Given the description of an element on the screen output the (x, y) to click on. 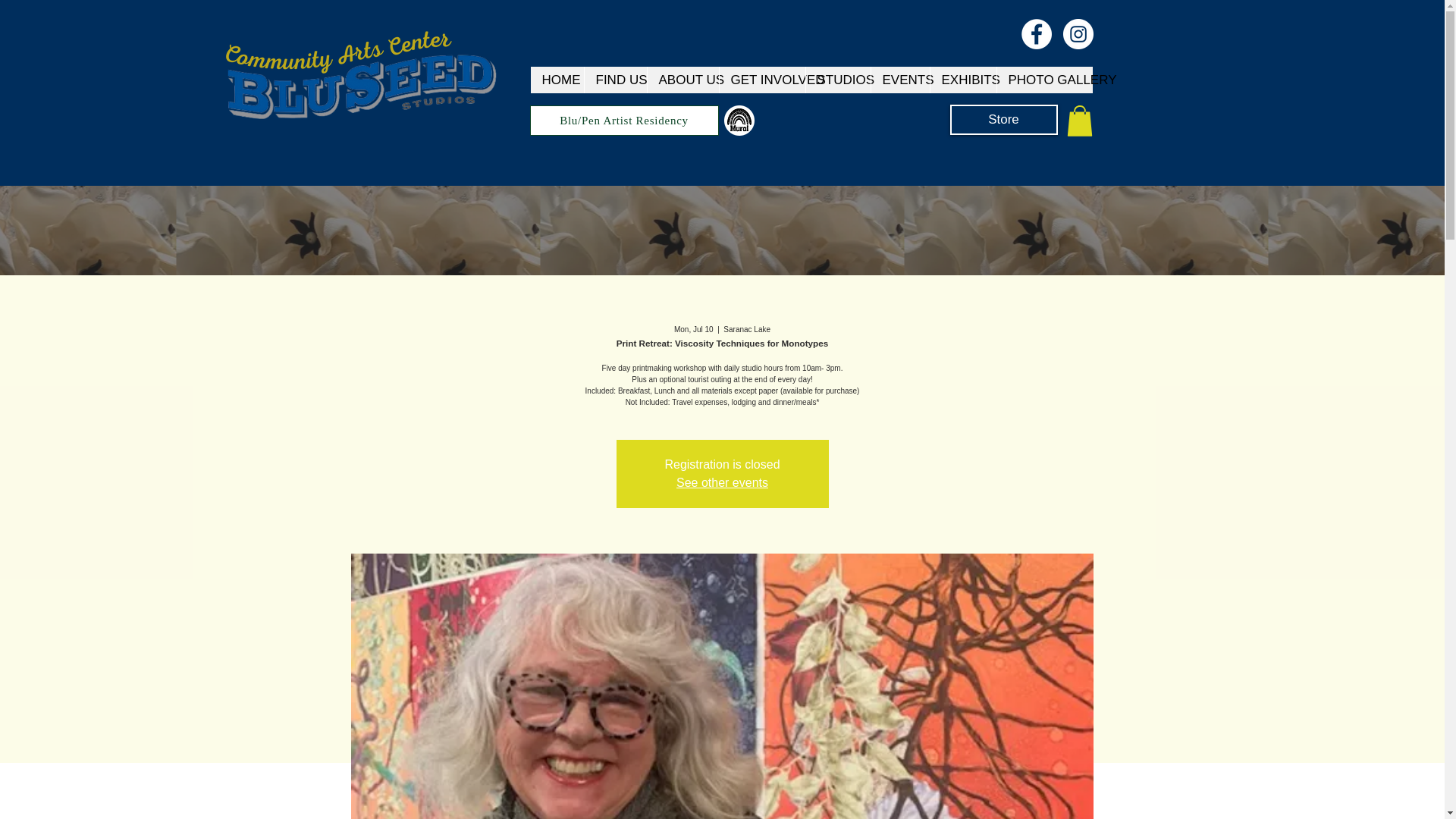
HOME (557, 79)
transparent logo 1.png (365, 87)
GET INVOLVED (762, 79)
See other events (722, 481)
ABOUT US (681, 79)
STUDIOS (837, 79)
EVENTS (900, 79)
FIND US (614, 79)
Store (1003, 119)
Your paragraph text.png (738, 120)
PHOTO GALLERY (1044, 79)
EXHIBITS (962, 79)
